Given the description of an element on the screen output the (x, y) to click on. 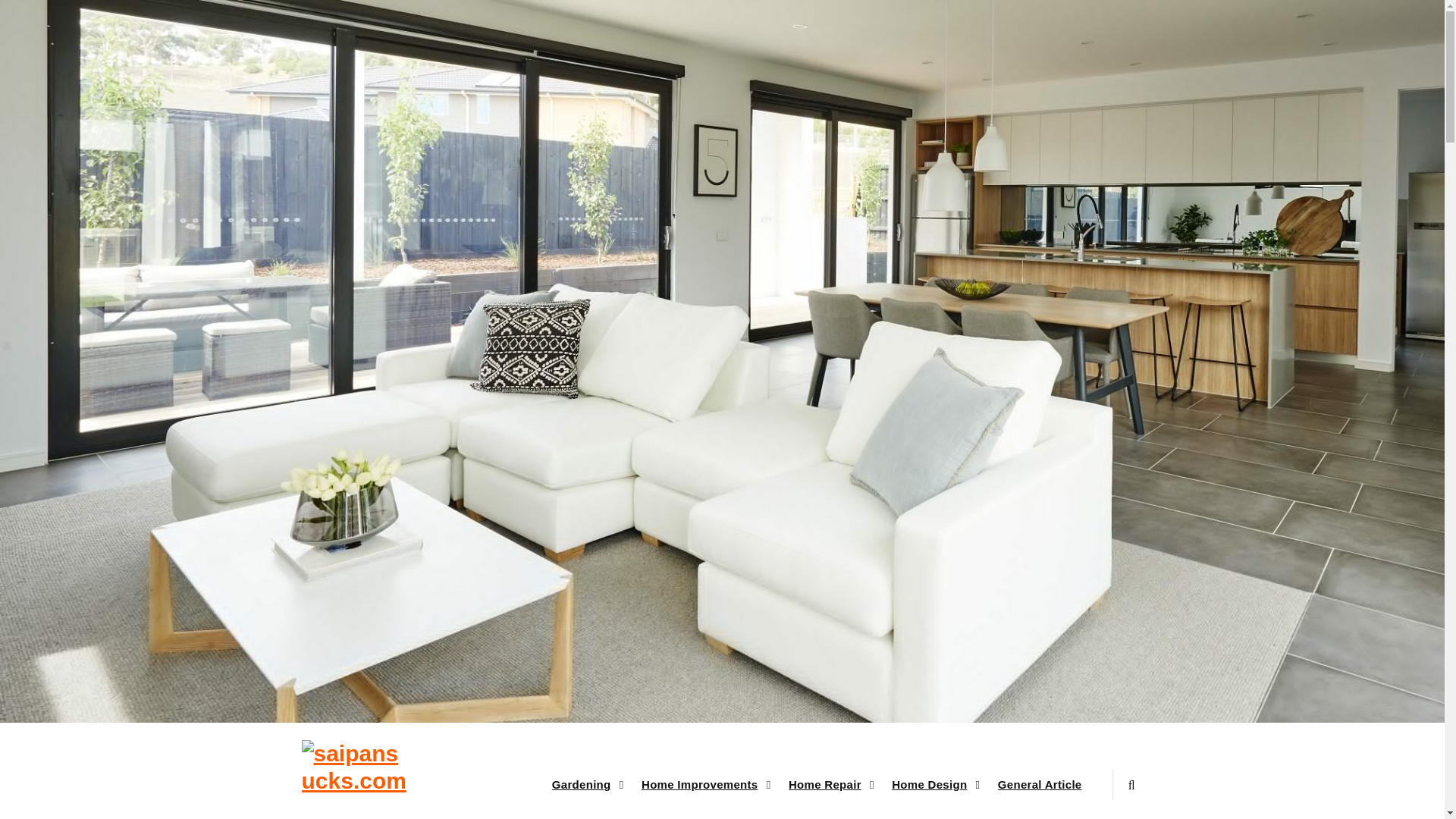
Home Improvements (703, 784)
General Article (1040, 784)
Gardening (585, 784)
Home Design (933, 784)
Home Repair (829, 784)
Home Repair (829, 784)
Home Improvements (703, 784)
Gardening (585, 784)
